Given the description of an element on the screen output the (x, y) to click on. 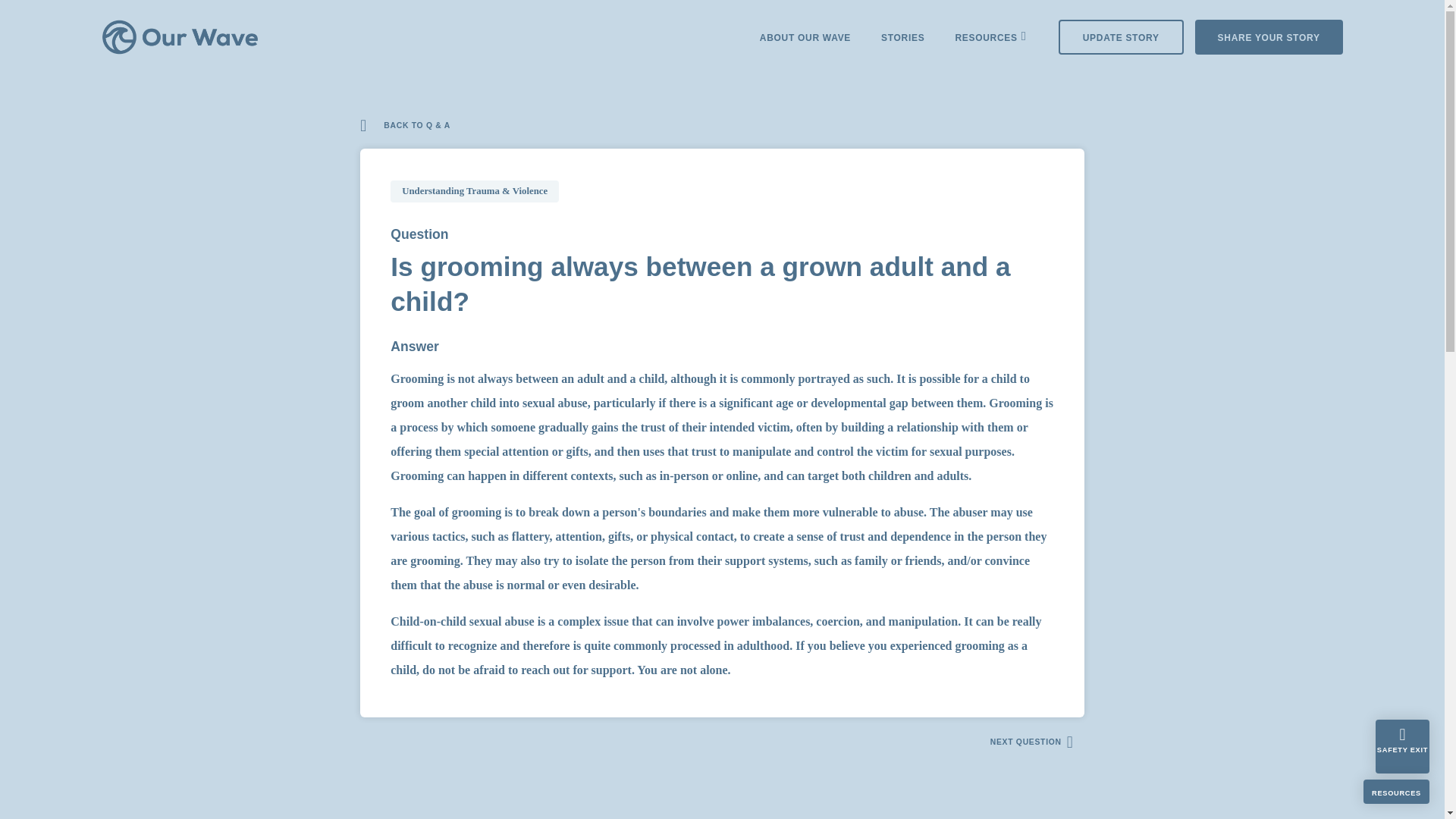
UPDATE STORY (1120, 36)
STORIES (902, 36)
Our Wave Home (180, 36)
RESOURCES (985, 38)
SHARE YOUR STORY (1268, 36)
NEXT QUESTION (1032, 737)
ABOUT OUR WAVE (805, 36)
